Given the description of an element on the screen output the (x, y) to click on. 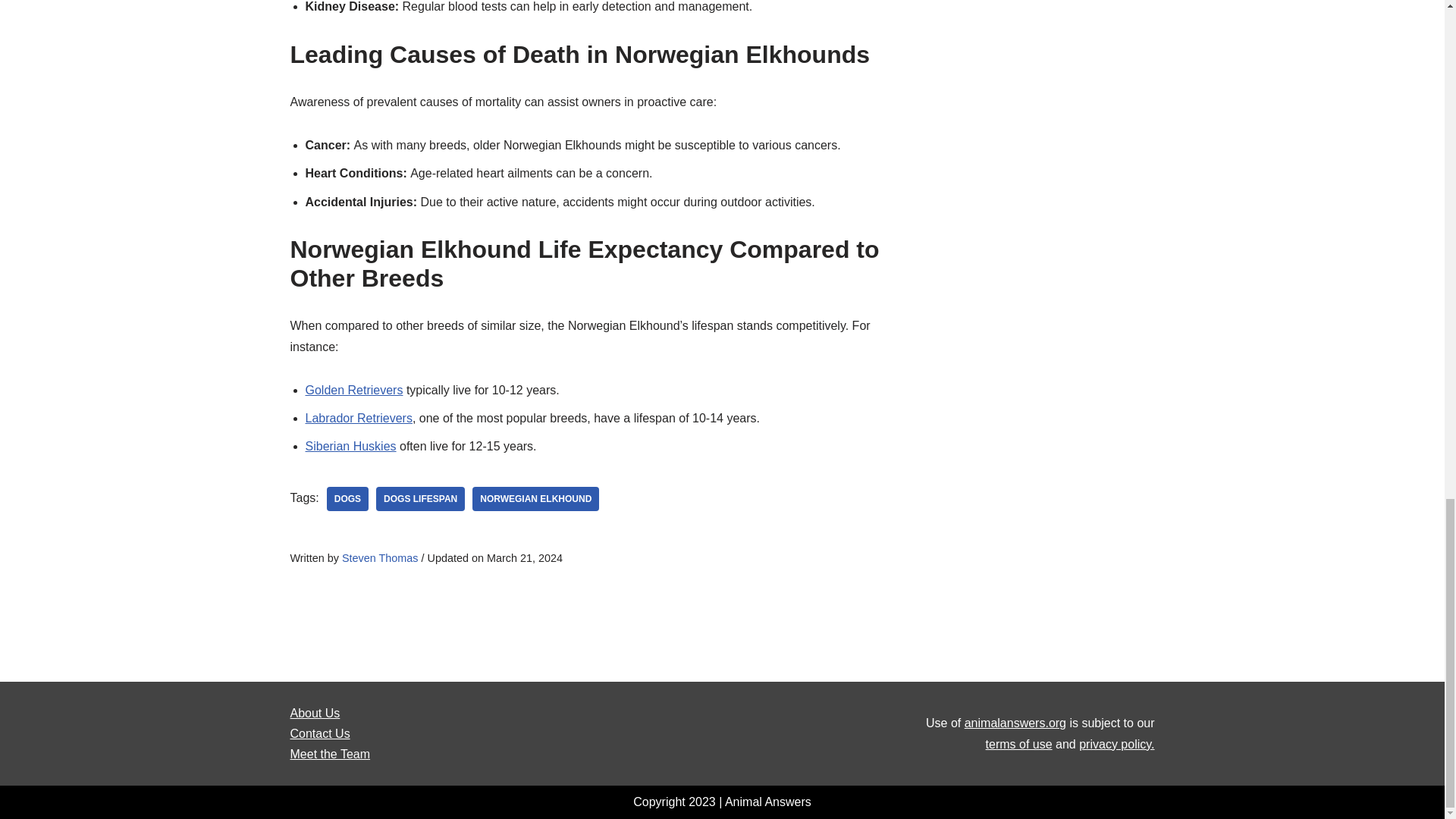
Posts by Steven Thomas (380, 558)
Lifespan (419, 498)
Dogs (347, 498)
Norwegian Elkhound (534, 498)
